Given the description of an element on the screen output the (x, y) to click on. 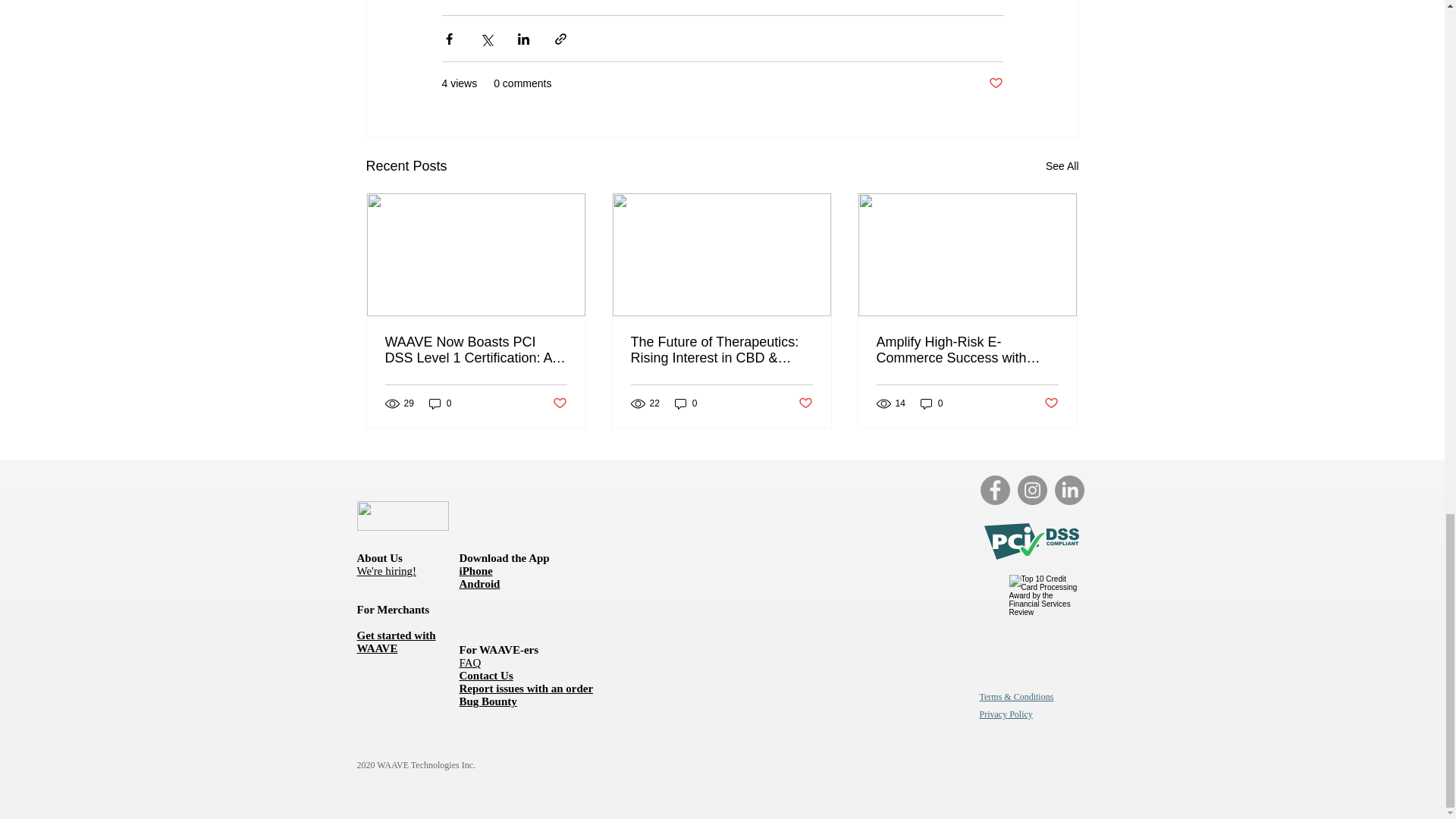
FAQ (470, 662)
See All (1061, 166)
Post not marked as liked (558, 403)
Privacy Policy (1005, 714)
We're hiring! (386, 571)
iPhone (476, 571)
Post not marked as liked (995, 83)
Post not marked as liked (804, 403)
Post not marked as liked (1050, 403)
Get started with WAAVE (395, 641)
Android (480, 583)
Contact Us (486, 675)
0 (931, 403)
Report issues with an order (527, 688)
